Given the description of an element on the screen output the (x, y) to click on. 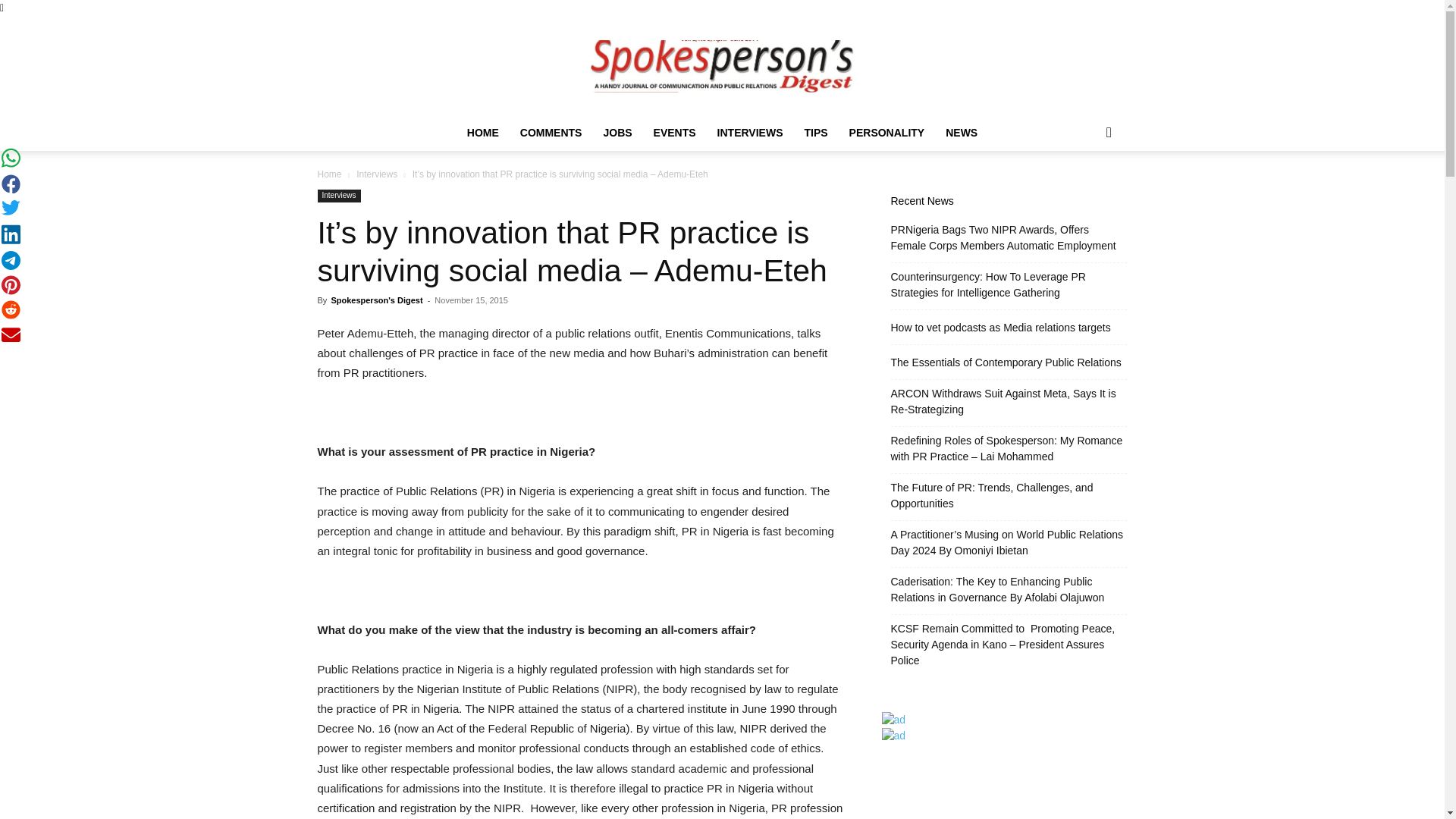
Spokesperson Logo (722, 66)
Interviews (338, 195)
JOBS (617, 132)
Spokesperson's Digest (376, 299)
Interviews (376, 173)
View all posts in Interviews (376, 173)
EVENTS (674, 132)
Home (328, 173)
COMMENTS (550, 132)
NEWS (961, 132)
INTERVIEWS (749, 132)
TIPS (815, 132)
PERSONALITY (887, 132)
HOME (483, 132)
Search (1085, 192)
